Given the description of an element on the screen output the (x, y) to click on. 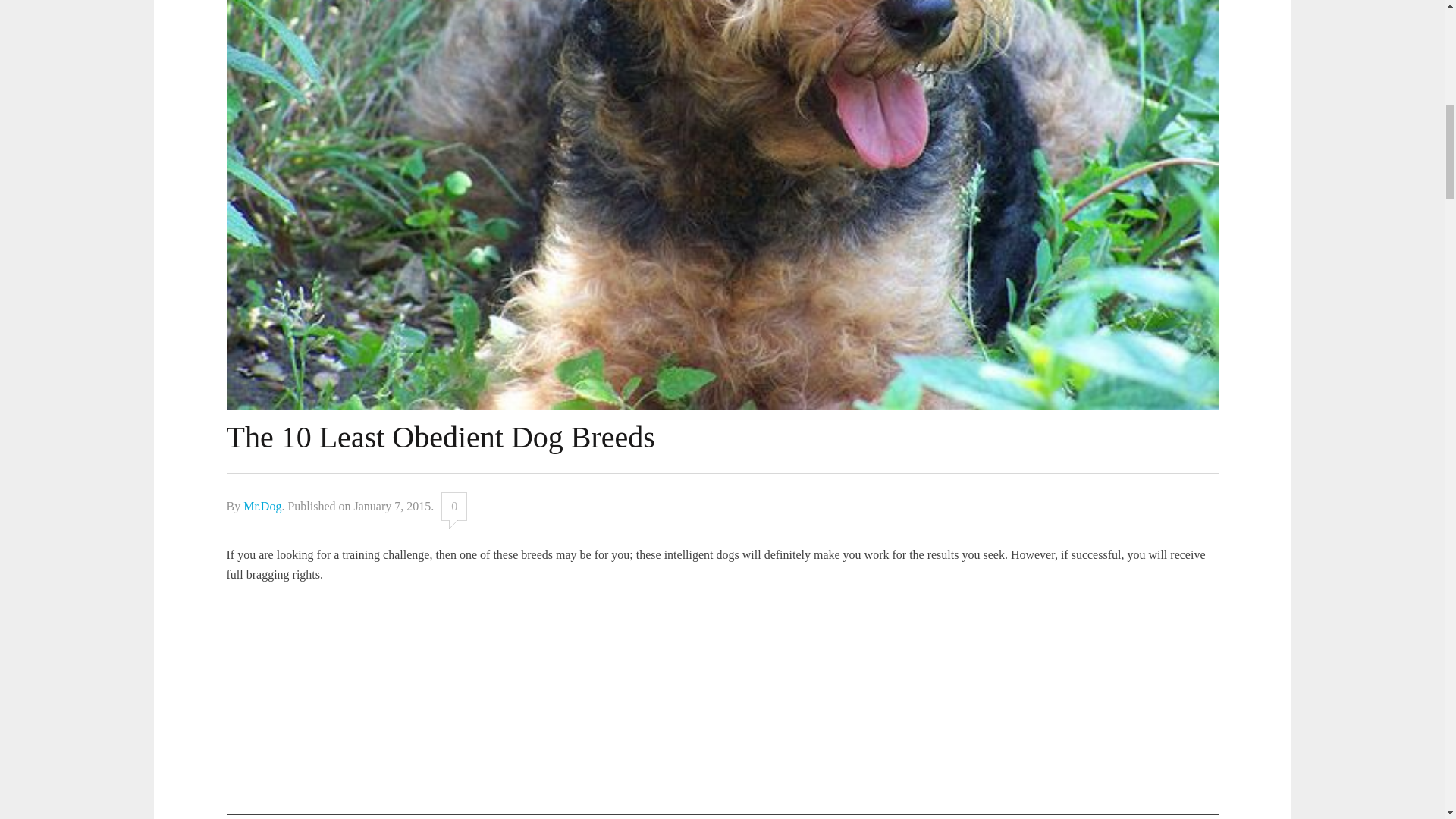
0 (454, 506)
Mr.Dog (262, 505)
Posts by Mr.Dog (262, 505)
